Given the description of an element on the screen output the (x, y) to click on. 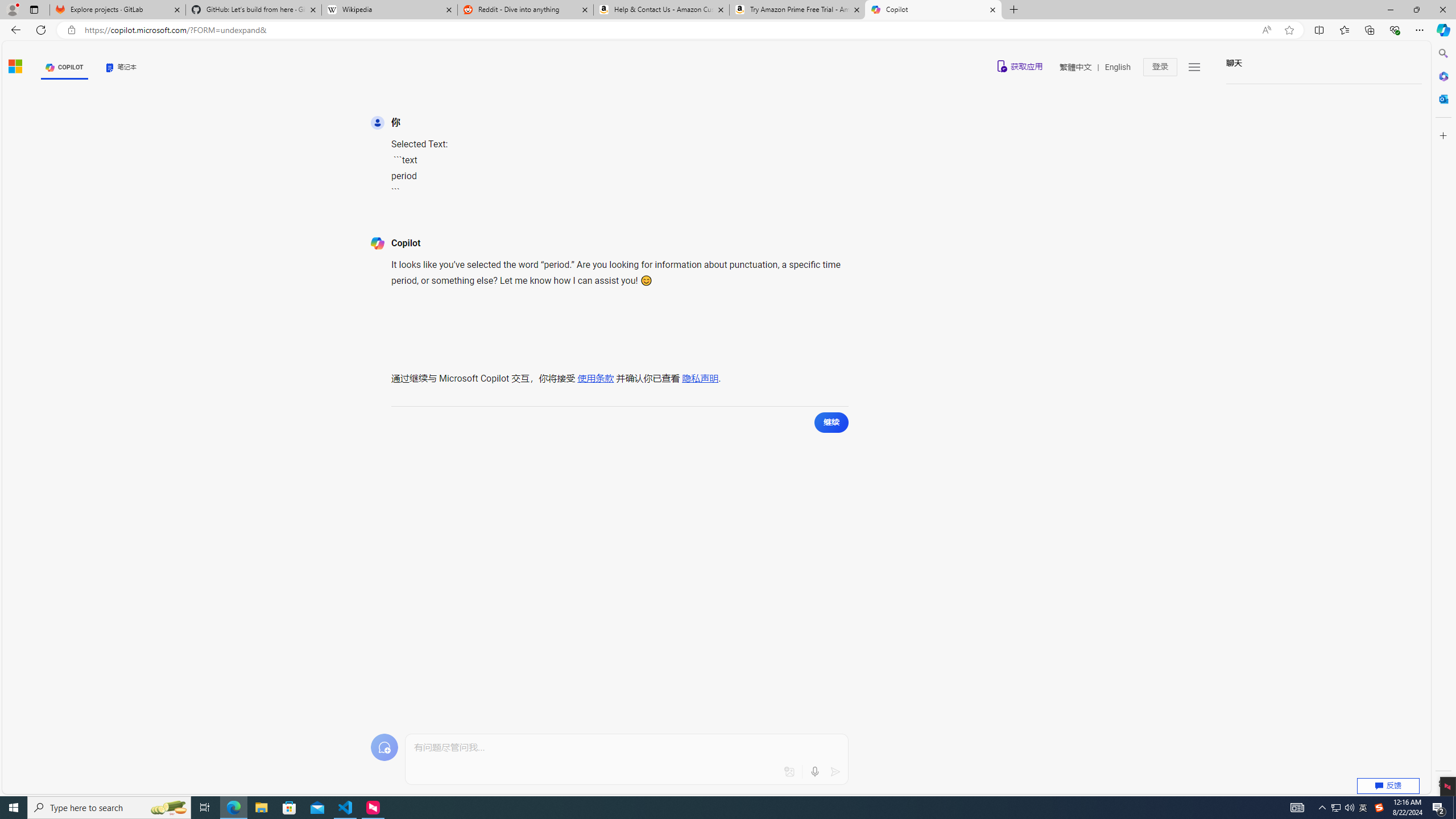
Copilot (933, 9)
